Given the description of an element on the screen output the (x, y) to click on. 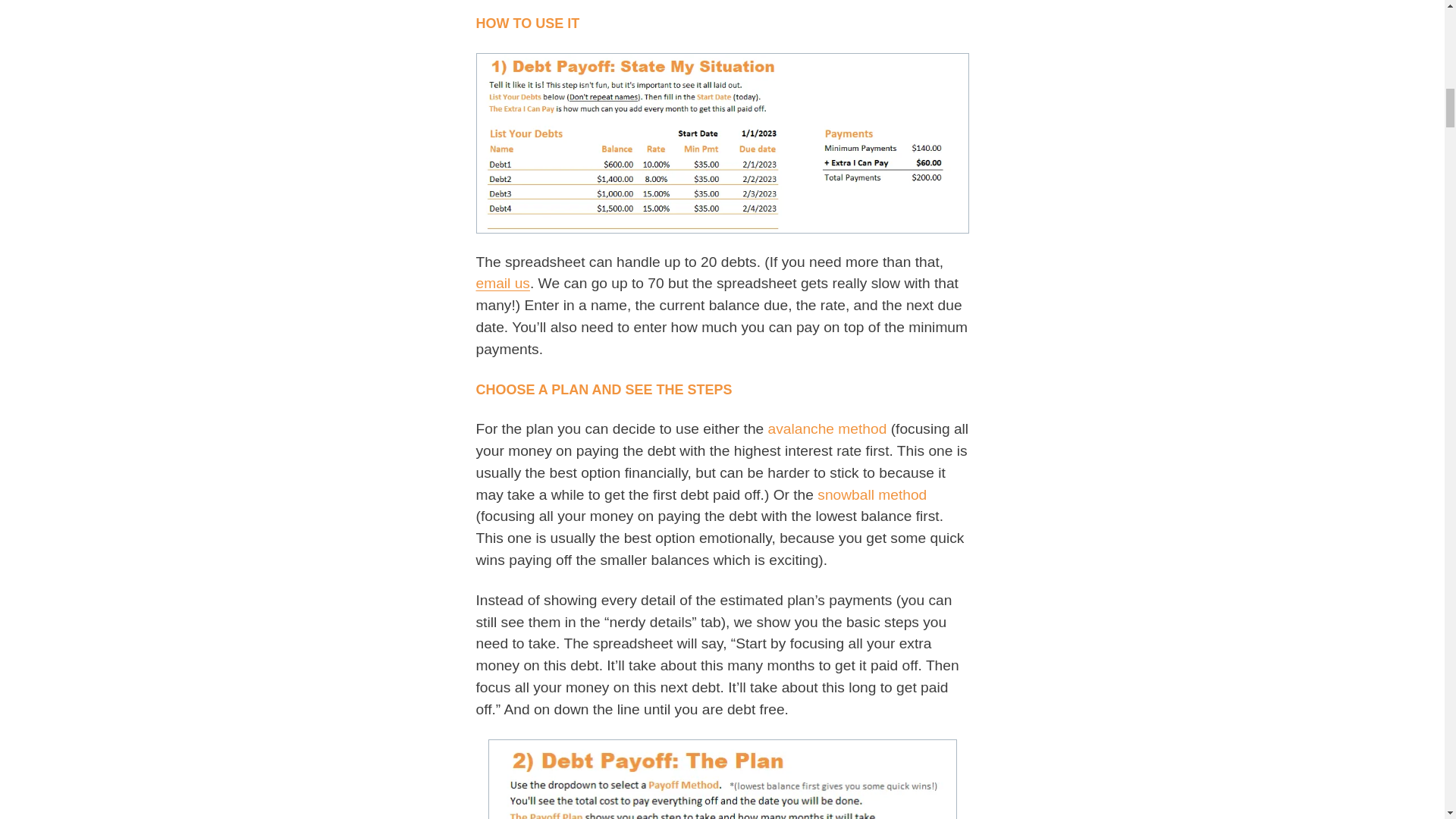
email us (502, 283)
